Given the description of an element on the screen output the (x, y) to click on. 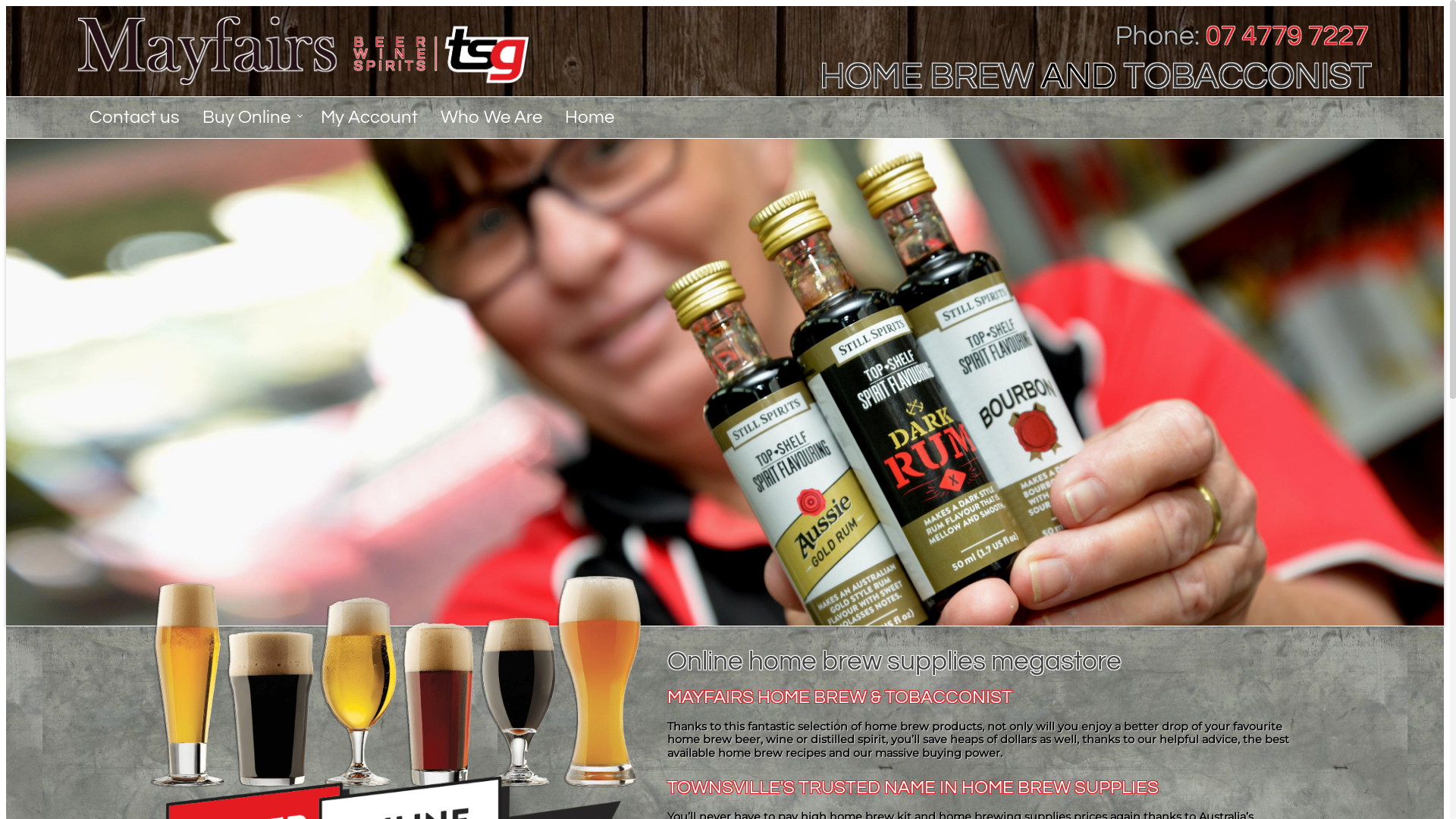
Contact us Element type: text (134, 117)
Home Element type: text (589, 117)
Buy Online Element type: text (250, 117)
Who We Are Element type: text (491, 117)
My Account Element type: text (369, 117)
